Given the description of an element on the screen output the (x, y) to click on. 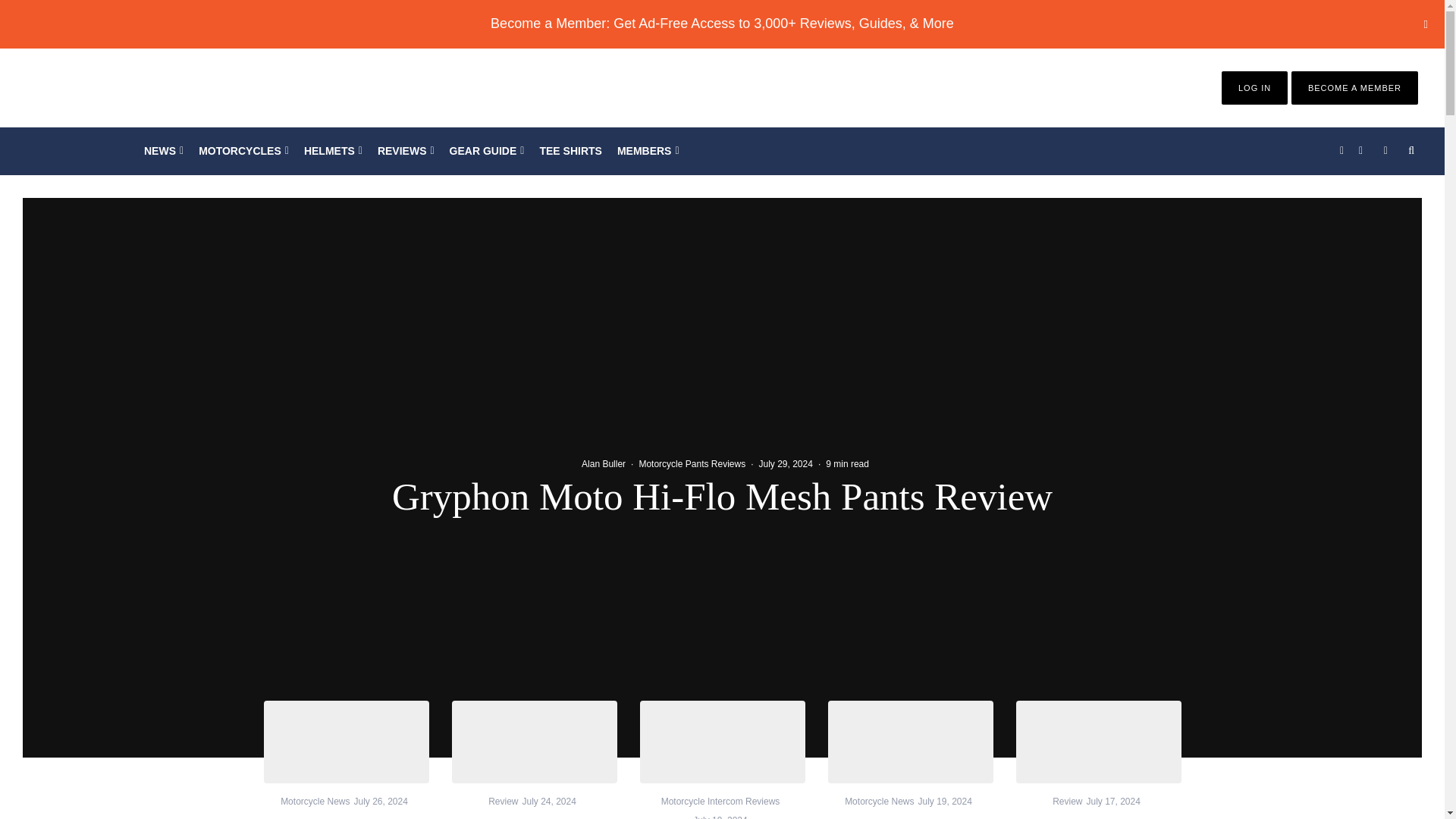
MOTORCYCLES (243, 150)
LOG IN (1255, 87)
BECOME A MEMBER (1353, 87)
NEWS (163, 150)
